Given the description of an element on the screen output the (x, y) to click on. 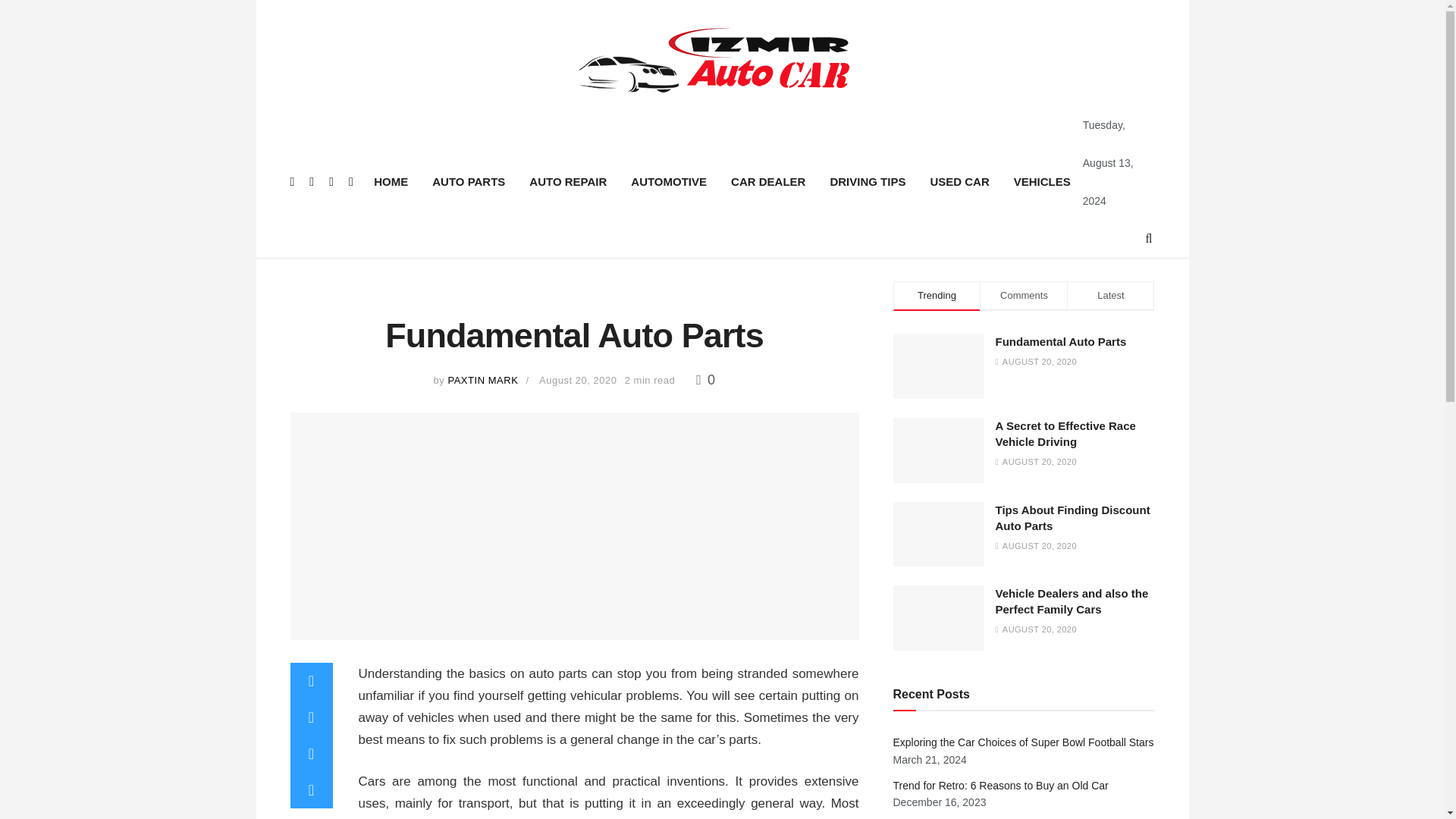
VEHICLES (1042, 181)
0 (704, 379)
August 20, 2020 (577, 379)
USED CAR (959, 181)
AUTO REPAIR (567, 181)
AUTO PARTS (468, 181)
PAXTIN MARK (482, 379)
AUTOMOTIVE (668, 181)
HOME (390, 181)
DRIVING TIPS (866, 181)
